Given the description of an element on the screen output the (x, y) to click on. 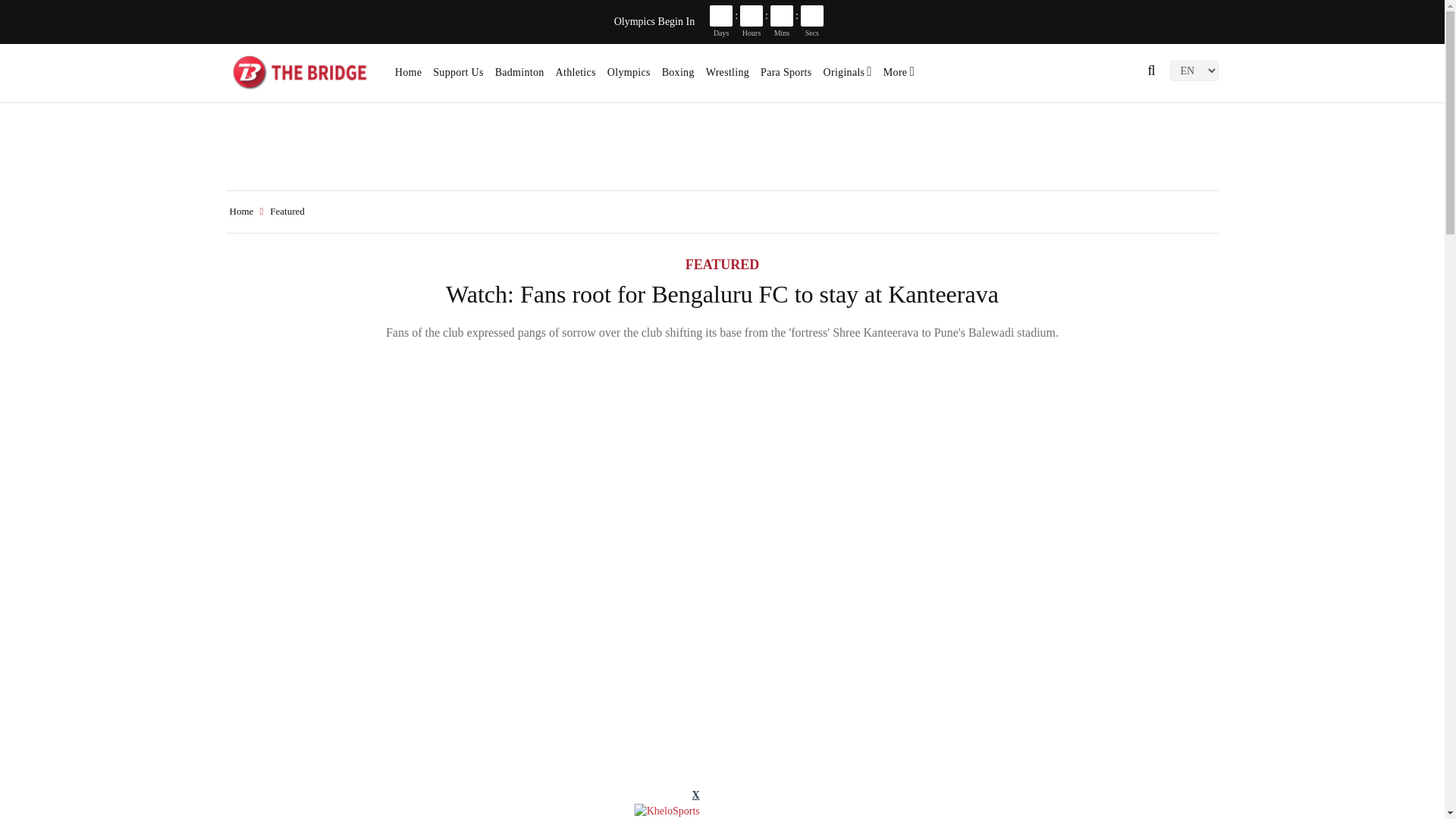
Originals (848, 77)
Para Sports (785, 77)
Support Us (457, 77)
Wrestling (727, 77)
Badminton (519, 77)
Olympics (628, 77)
